Given the description of an element on the screen output the (x, y) to click on. 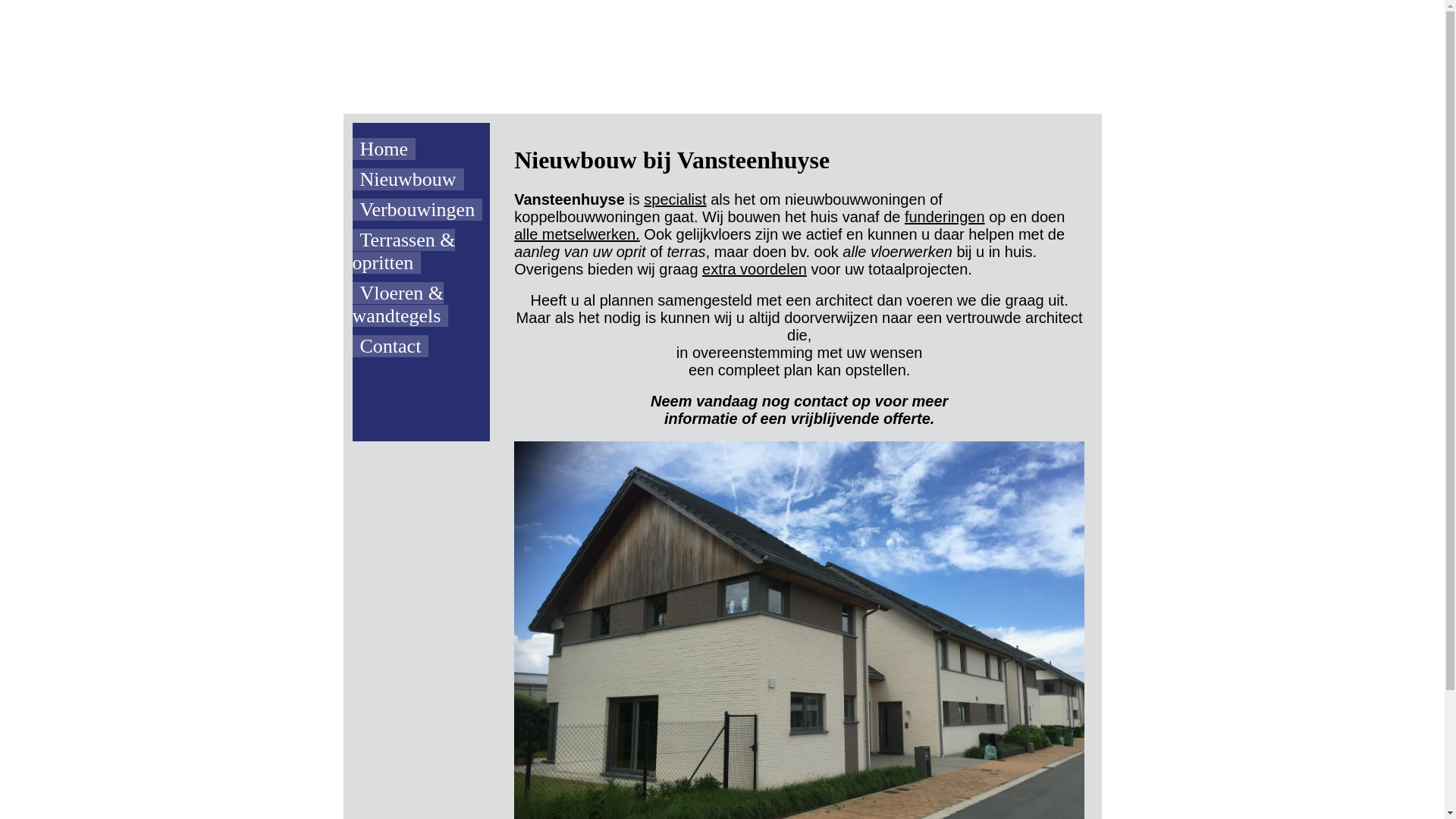
Home Element type: text (416, 149)
Nieuwbouw Element type: text (416, 179)
Terrassen & opritten Element type: text (416, 251)
Contact Element type: text (416, 346)
Vloeren & wandtegels Element type: text (416, 304)
Verbouwingen Element type: text (416, 209)
